Given the description of an element on the screen output the (x, y) to click on. 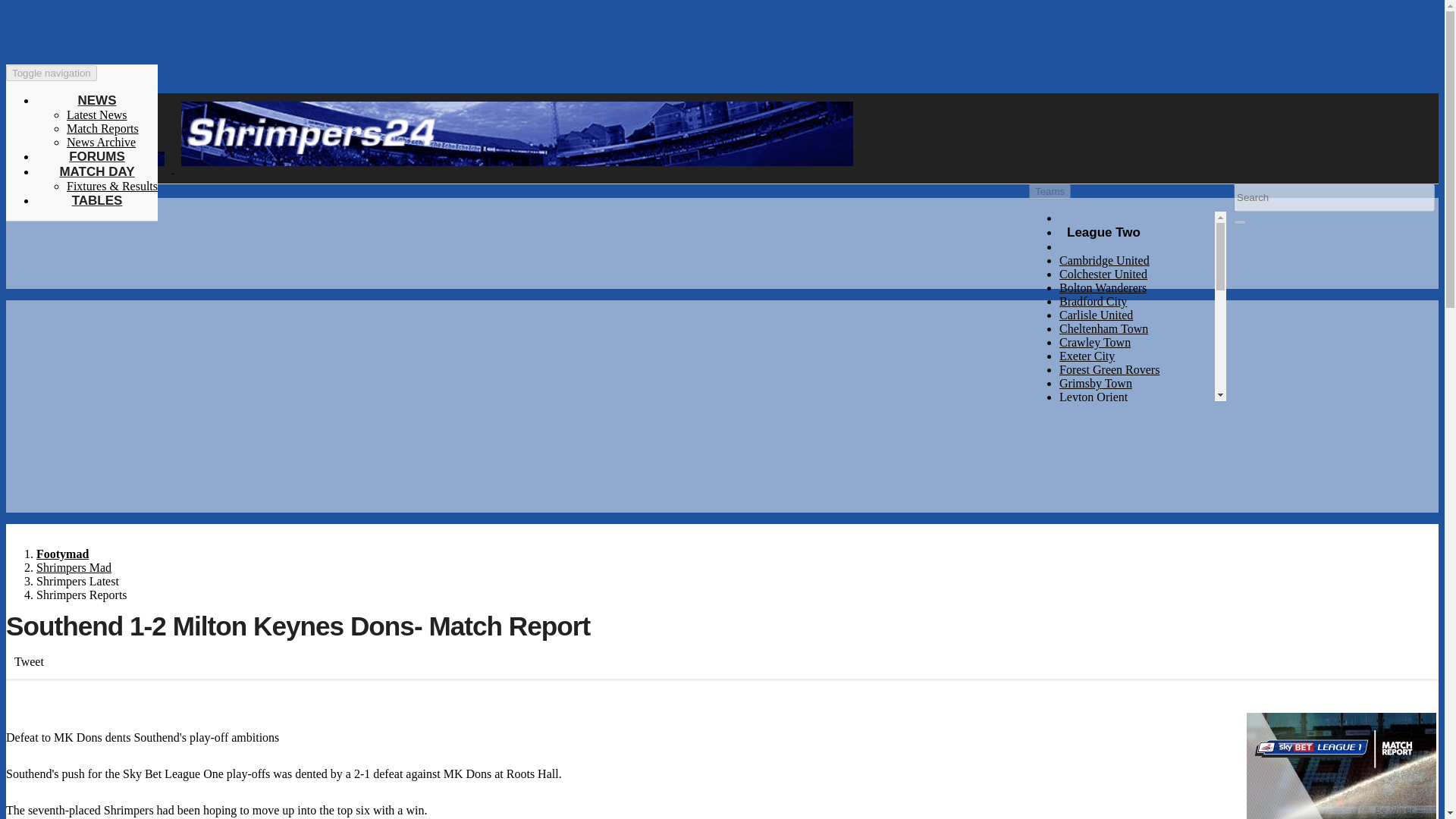
Newport County (1099, 560)
MATCH DAY (96, 171)
Oldham Athletic (1099, 451)
Morecambe (1087, 423)
Match Reports (102, 128)
Teams (1049, 191)
Grimsby Town (1095, 382)
FORUMS (96, 156)
Tranmere Rovers (1100, 519)
Walsall (1077, 533)
NEWS (96, 100)
Wales (1074, 671)
Southend United (1100, 492)
Bradford City (1092, 300)
Scunthorpe United (1104, 478)
